Given the description of an element on the screen output the (x, y) to click on. 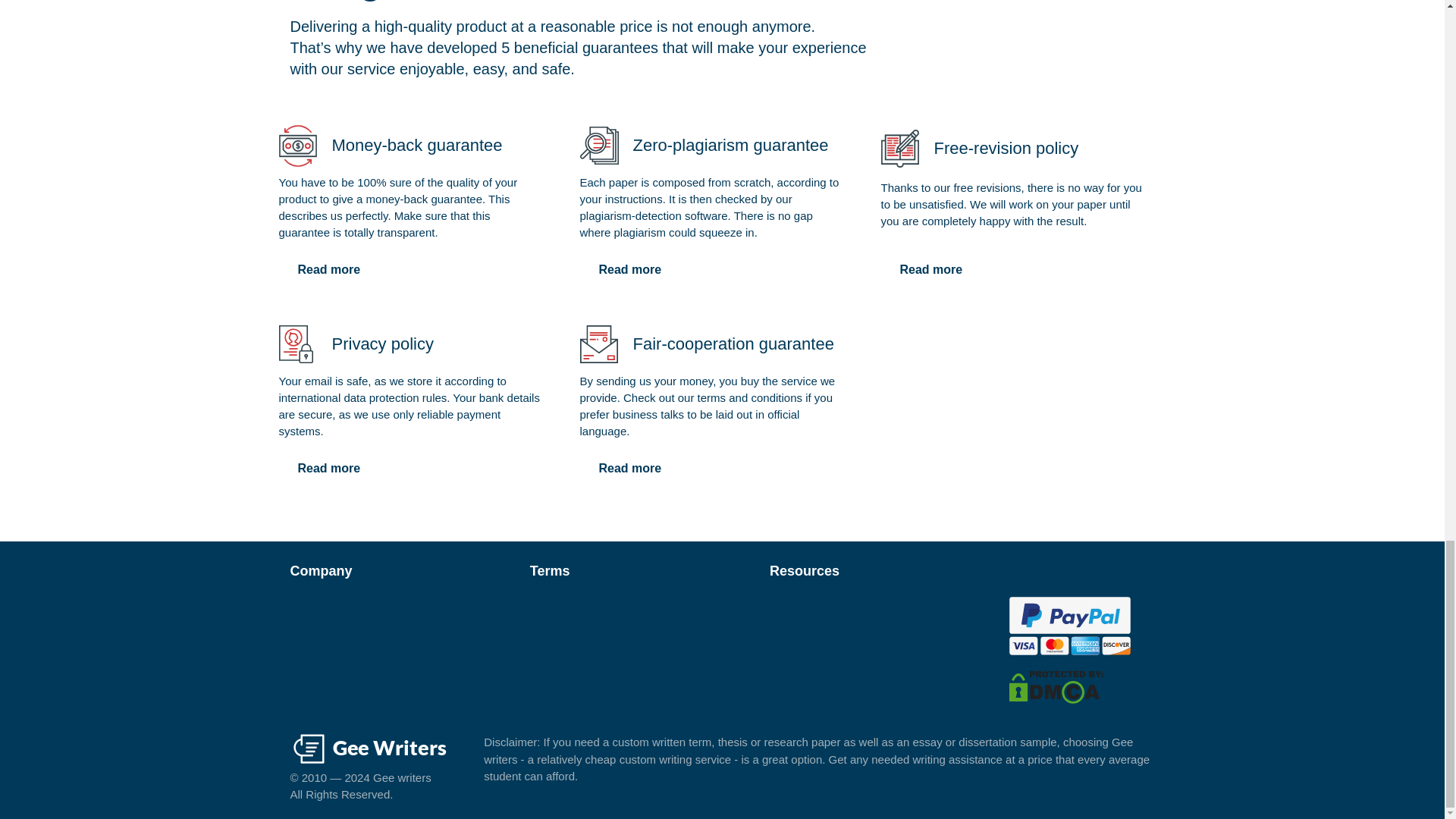
Read more (329, 269)
Read more (329, 468)
Read more (629, 468)
Read more (629, 269)
Read more (930, 269)
